Given the description of an element on the screen output the (x, y) to click on. 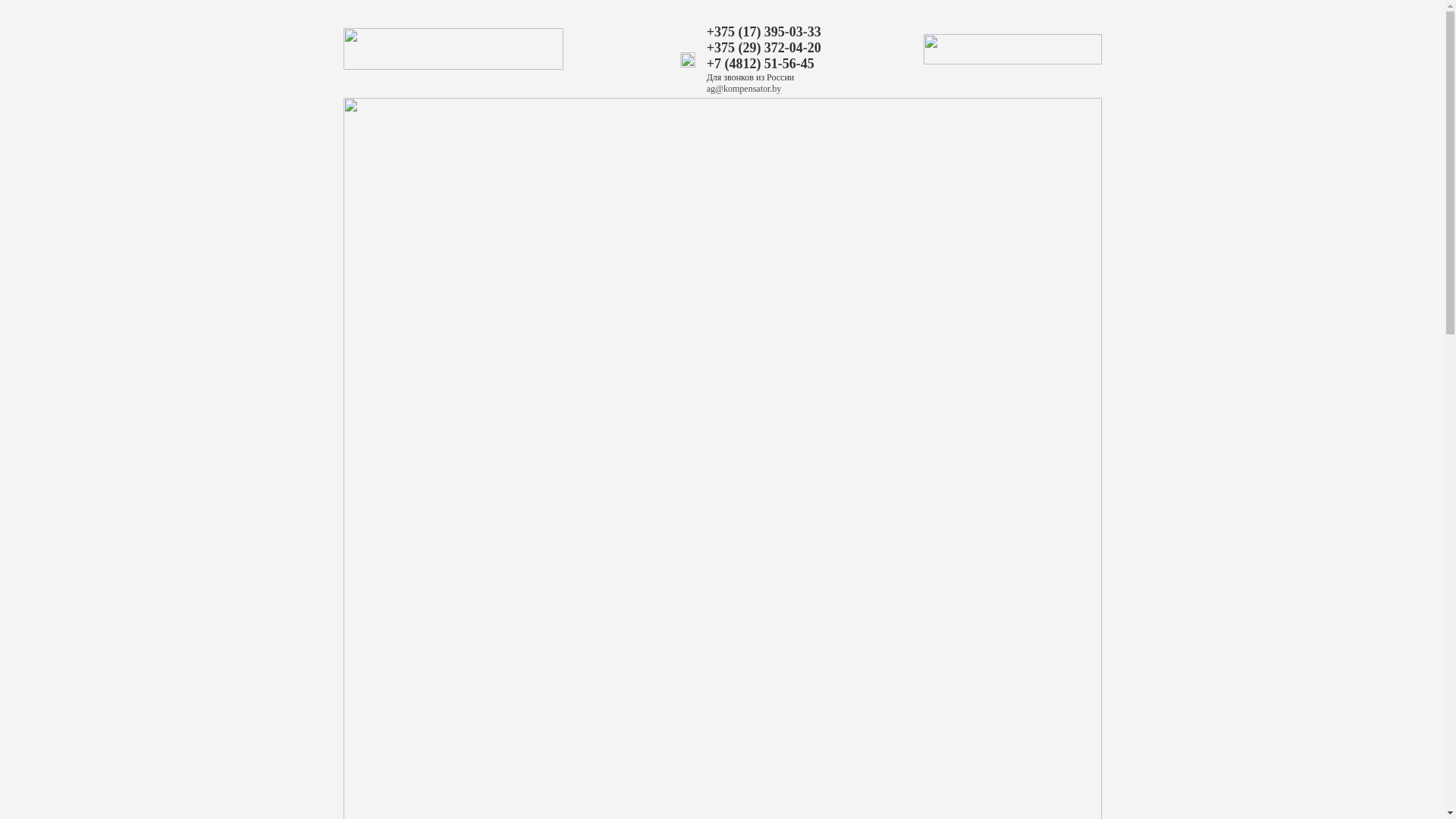
ag@kompensator.by Element type: text (743, 88)
